Given the description of an element on the screen output the (x, y) to click on. 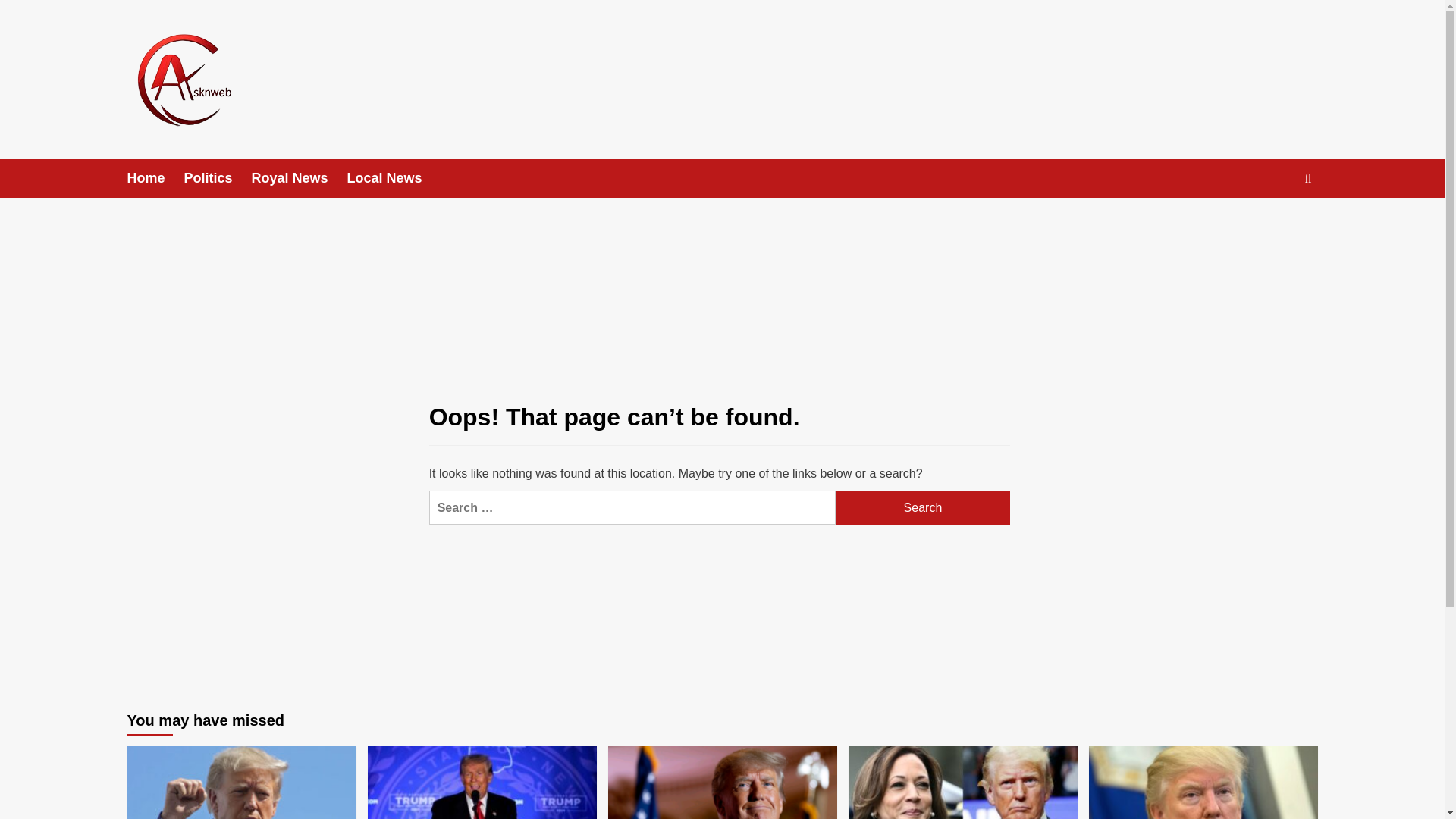
Search (1307, 178)
Politics (217, 178)
Royal News (299, 178)
Home (156, 178)
Search (922, 507)
Search (1272, 224)
Local News (394, 178)
Search (922, 507)
Search (922, 507)
